Given the description of an element on the screen output the (x, y) to click on. 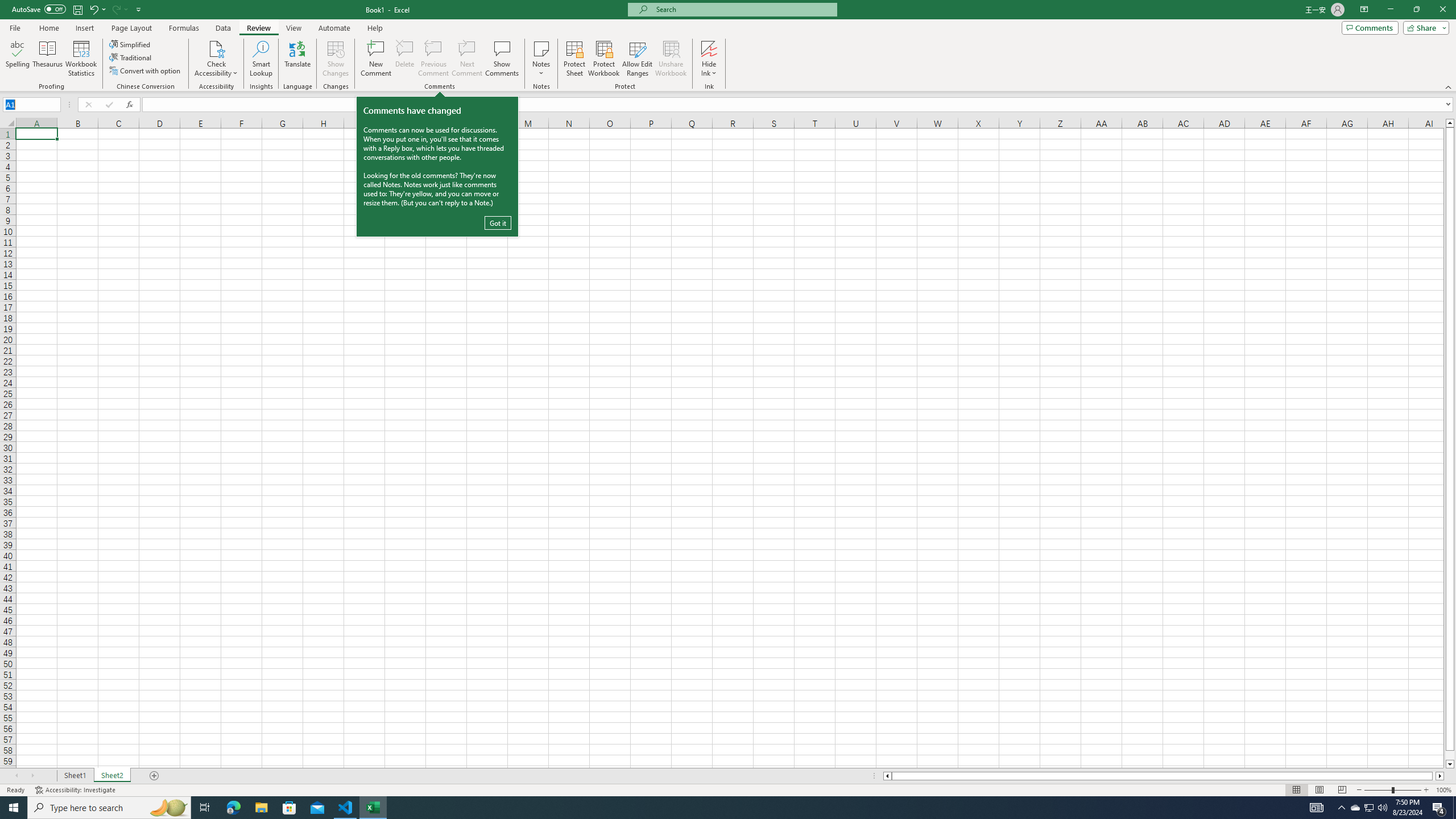
Thesaurus... (47, 58)
Show Comments (501, 58)
New Comment (376, 58)
Convert with option (145, 69)
